Given the description of an element on the screen output the (x, y) to click on. 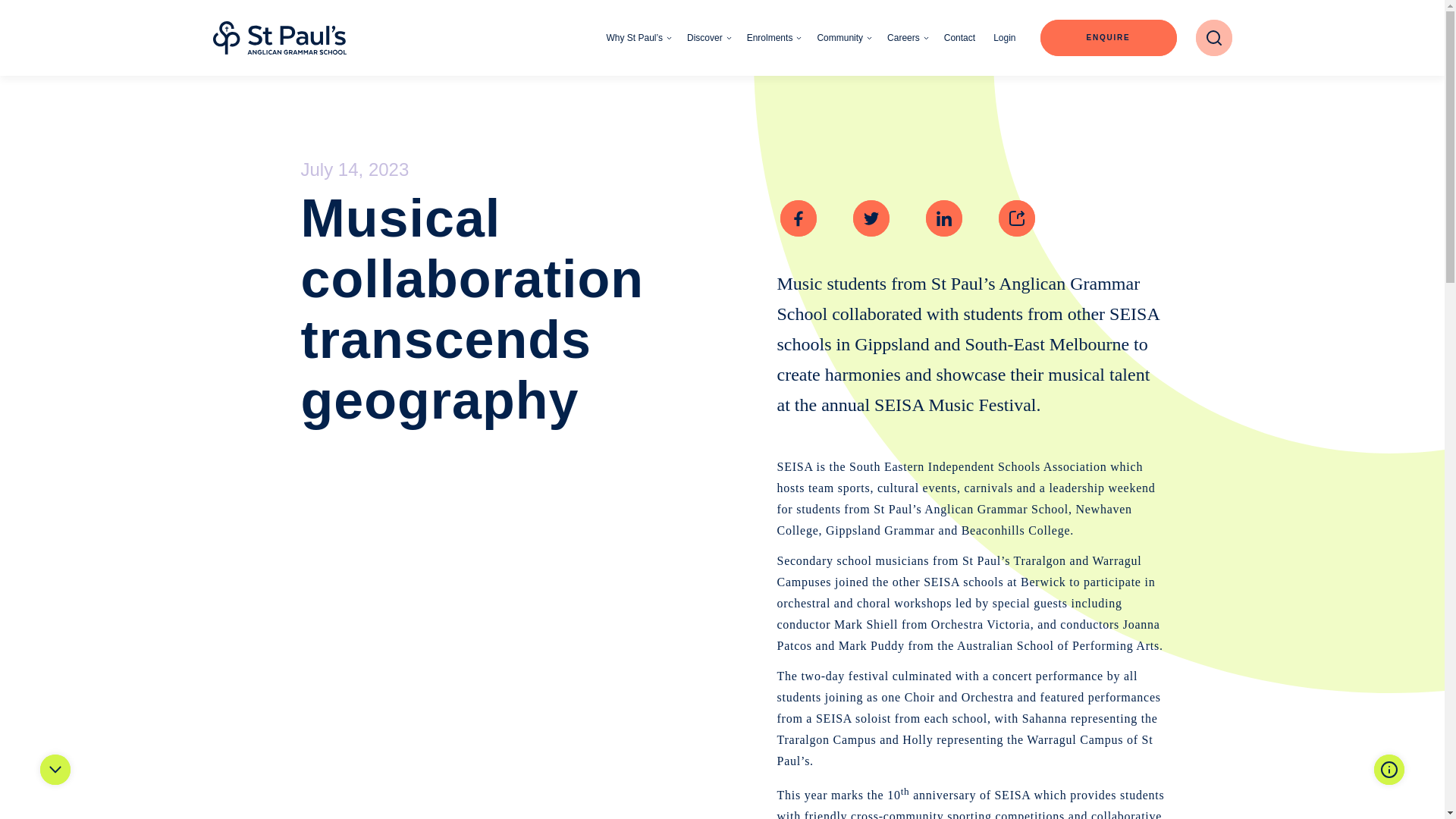
Contact (959, 38)
Community (844, 38)
ENQUIRE (1108, 37)
Careers (907, 38)
Enrolments (774, 38)
Discover (709, 38)
